Given the description of an element on the screen output the (x, y) to click on. 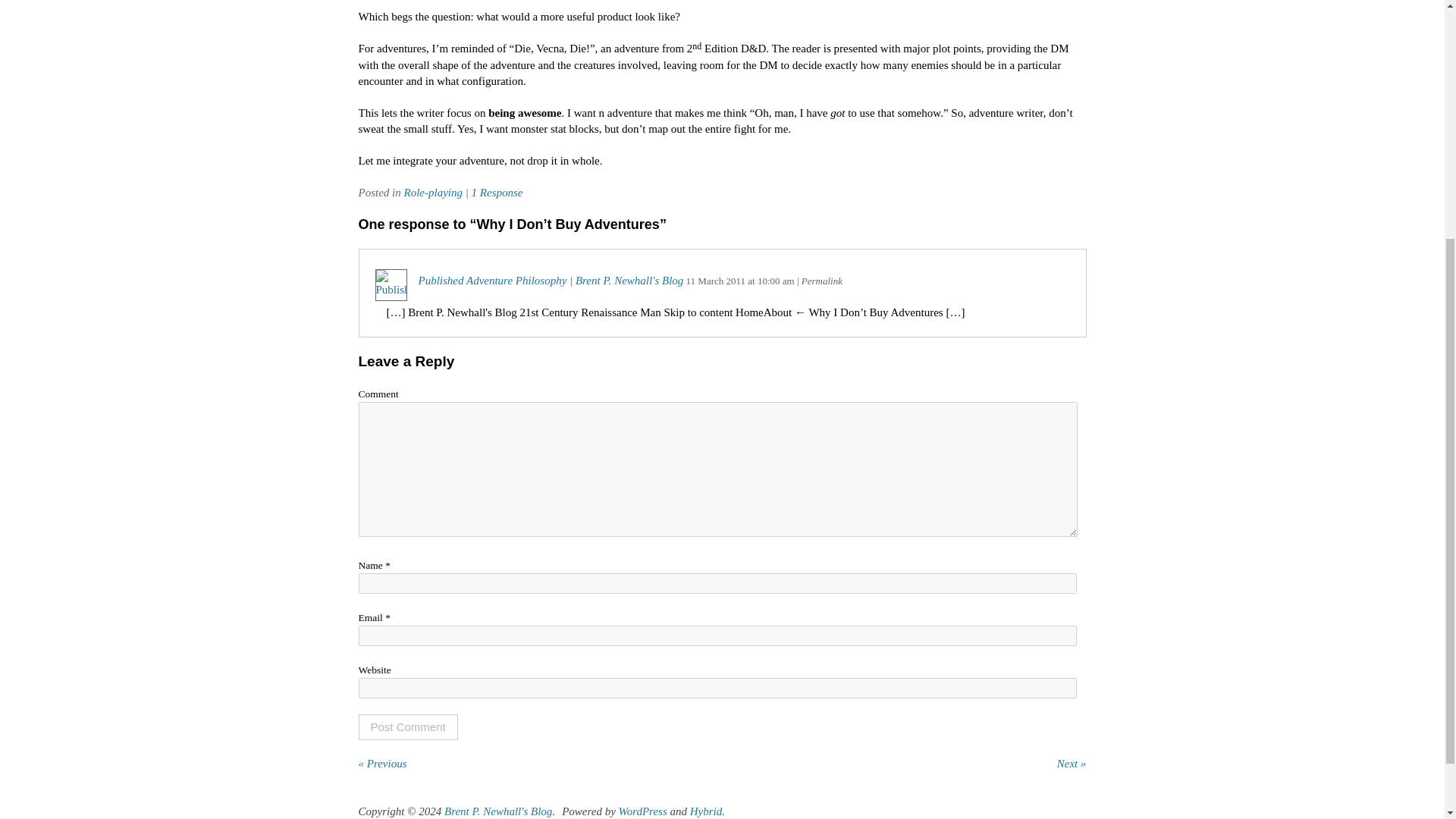
Hybrid WordPress Theme (706, 811)
Friday, March 11th, 2011, 10:00 am (715, 280)
Brent P. Newhall's Blog (497, 811)
Hybrid (706, 811)
Post Comment (407, 727)
Friday, March 11th, 2011, 10:00 am (775, 280)
Role-playing (432, 192)
WordPress (642, 811)
Permalink (822, 280)
State-of-the-art semantic personal publishing platform (642, 811)
1 Response (496, 192)
Post Comment (407, 727)
Brent P. Newhall's Blog (497, 811)
Permalink to comment 55 (822, 280)
